Given the description of an element on the screen output the (x, y) to click on. 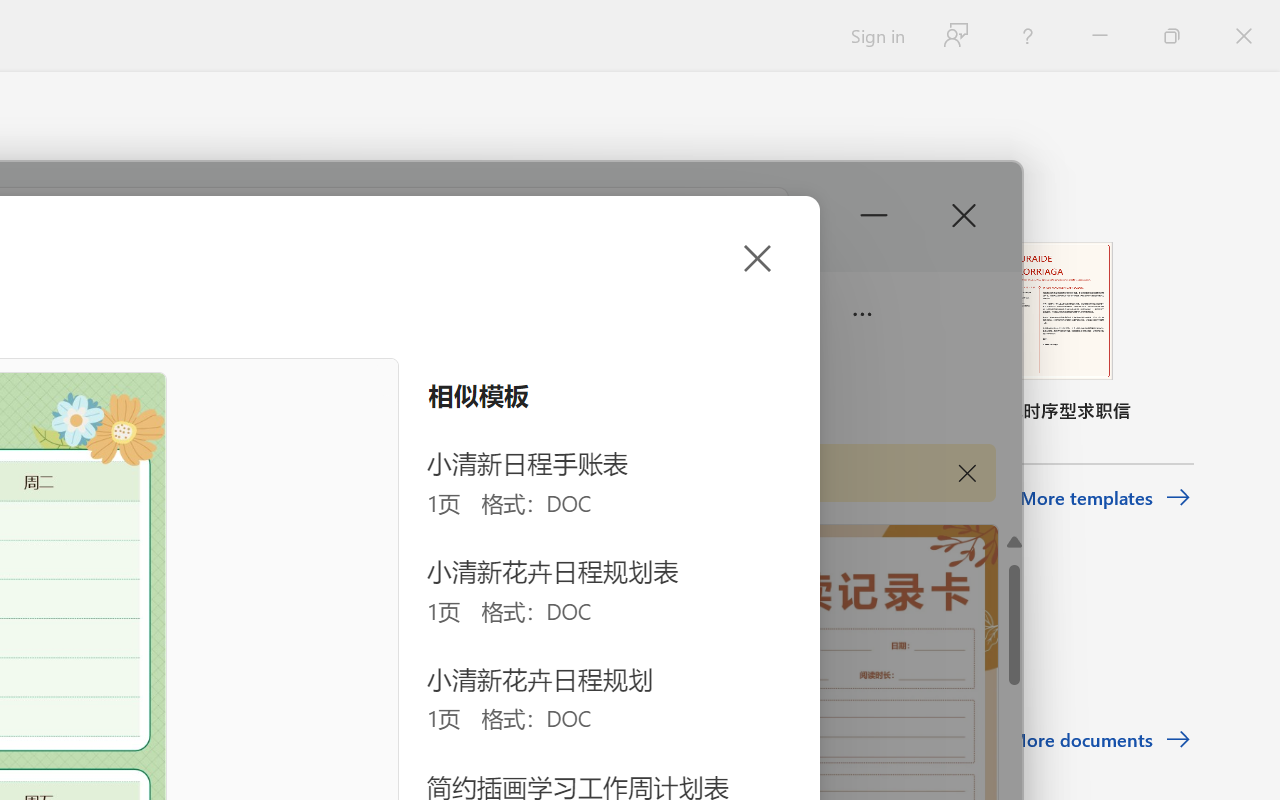
Sign in (875, 35)
